Given the description of an element on the screen output the (x, y) to click on. 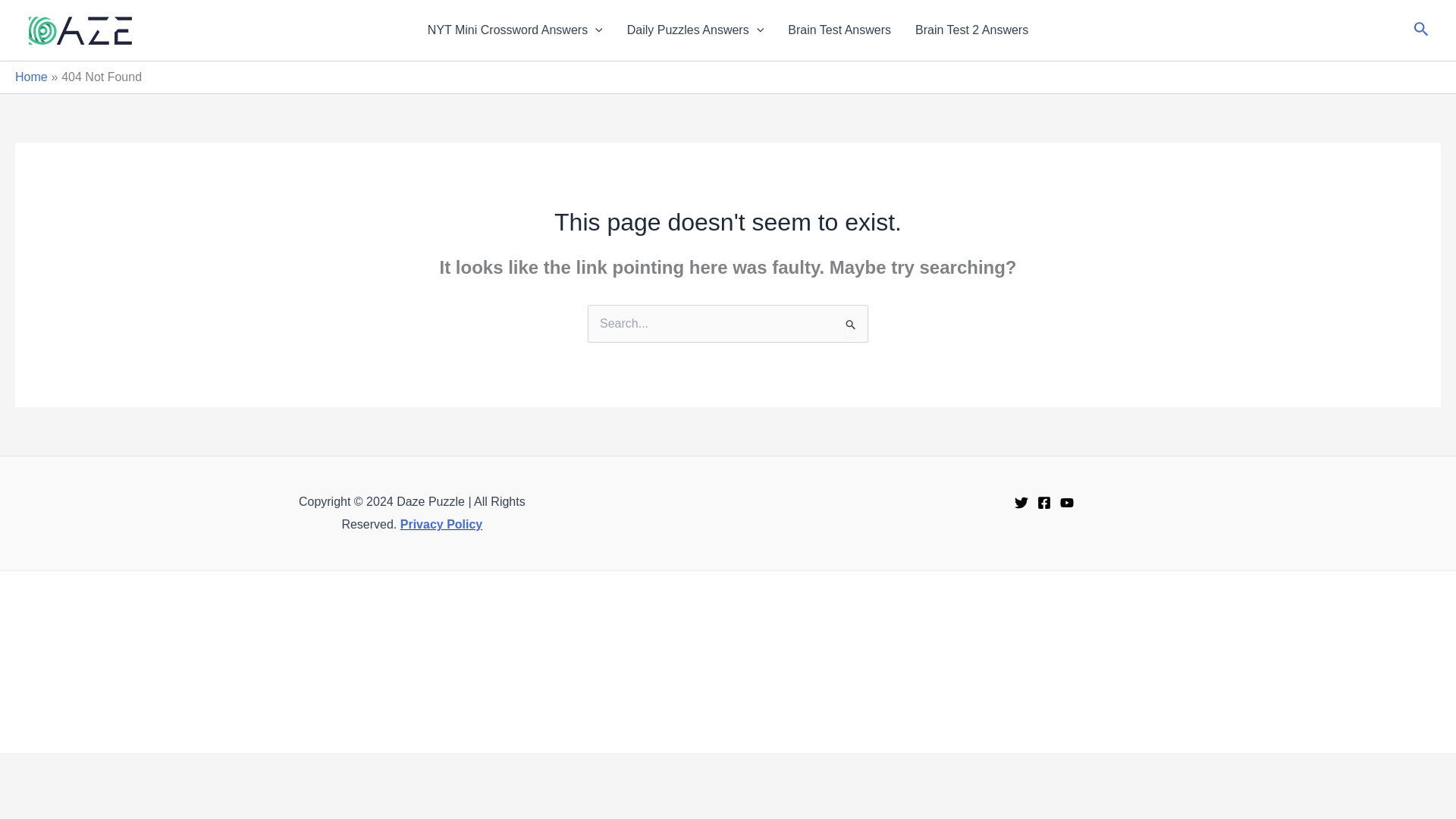
Brain Test Answers (839, 30)
Brain Test 2 Answers (971, 30)
NYT Mini Crossword Answers (514, 30)
Daily Puzzles Answers (695, 30)
